Given the description of an element on the screen output the (x, y) to click on. 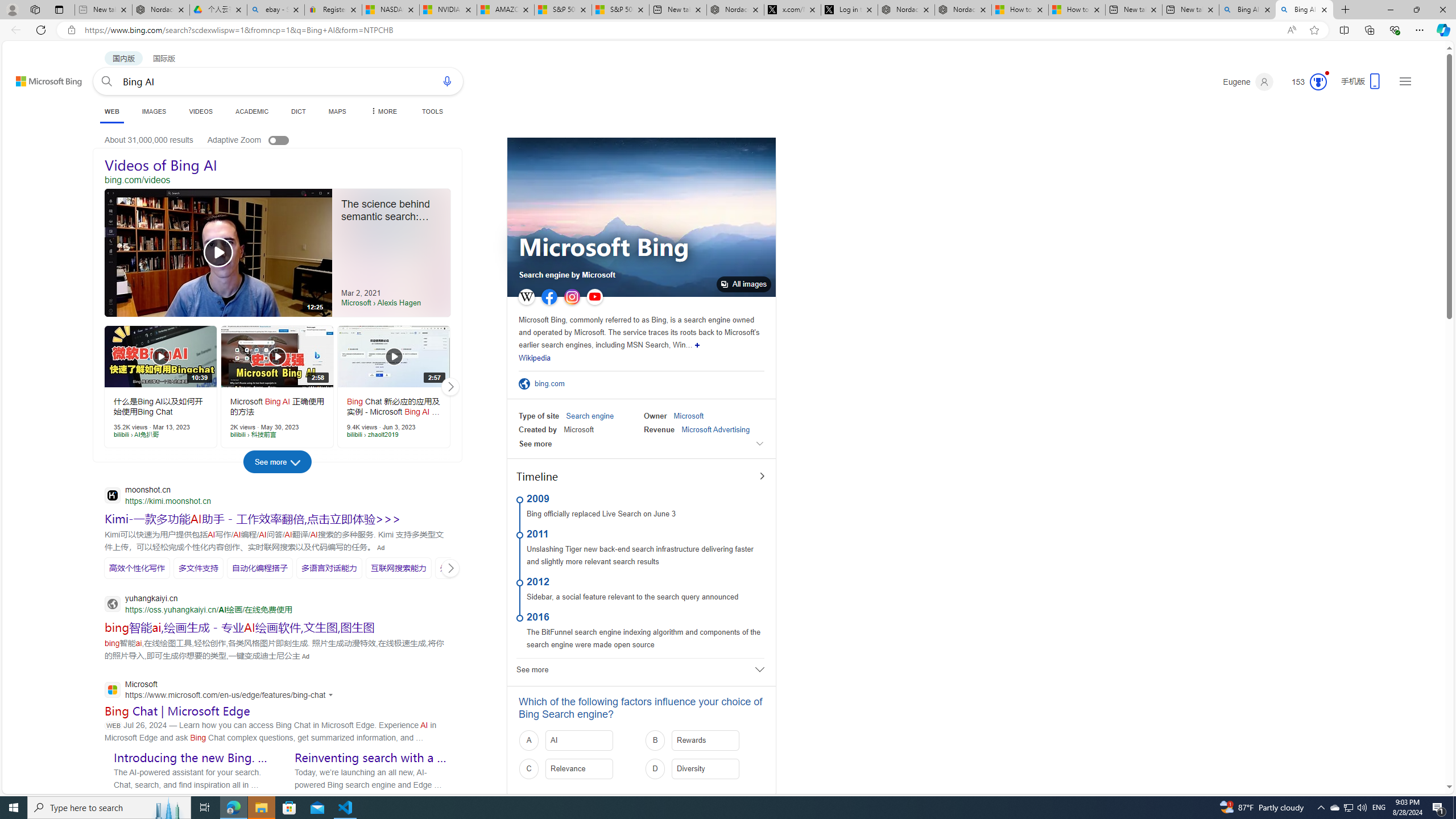
SERP,5714 (136, 568)
Bing officially replaced Live Search on June 3 (601, 513)
S&P 500, Nasdaq end lower, weighed by Nvidia dip | Watch (619, 9)
Register: Create a personal eBay account (332, 9)
Short videos of bing ai (155, 465)
Owner (654, 415)
Global web icon (111, 689)
SERP,5715 (198, 567)
